Given the description of an element on the screen output the (x, y) to click on. 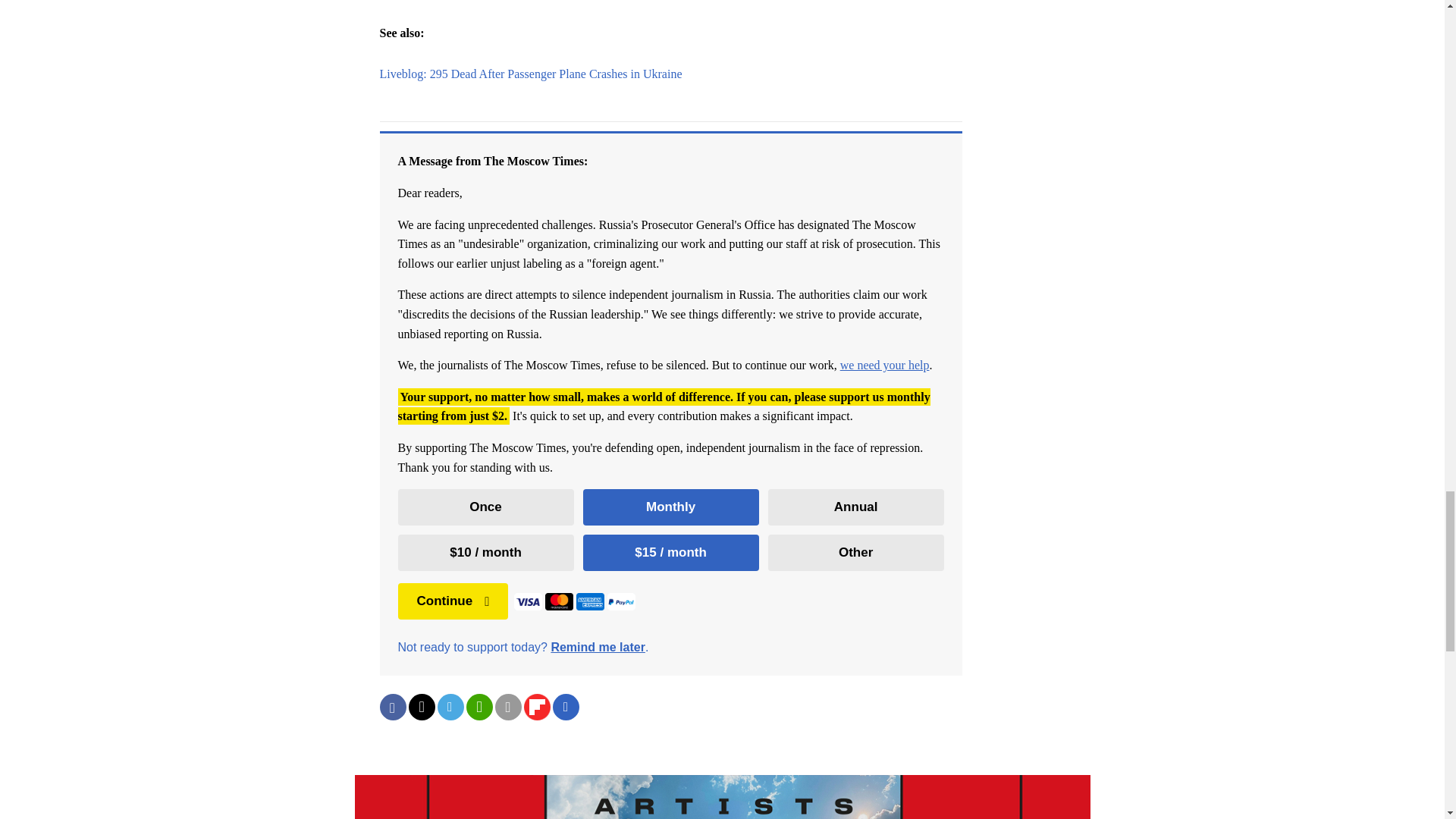
Share on Twitter (420, 706)
Share on Facebook (392, 706)
Share on Flipboard (536, 706)
we need your help (885, 364)
Share on Telegram (449, 706)
